Given the description of an element on the screen output the (x, y) to click on. 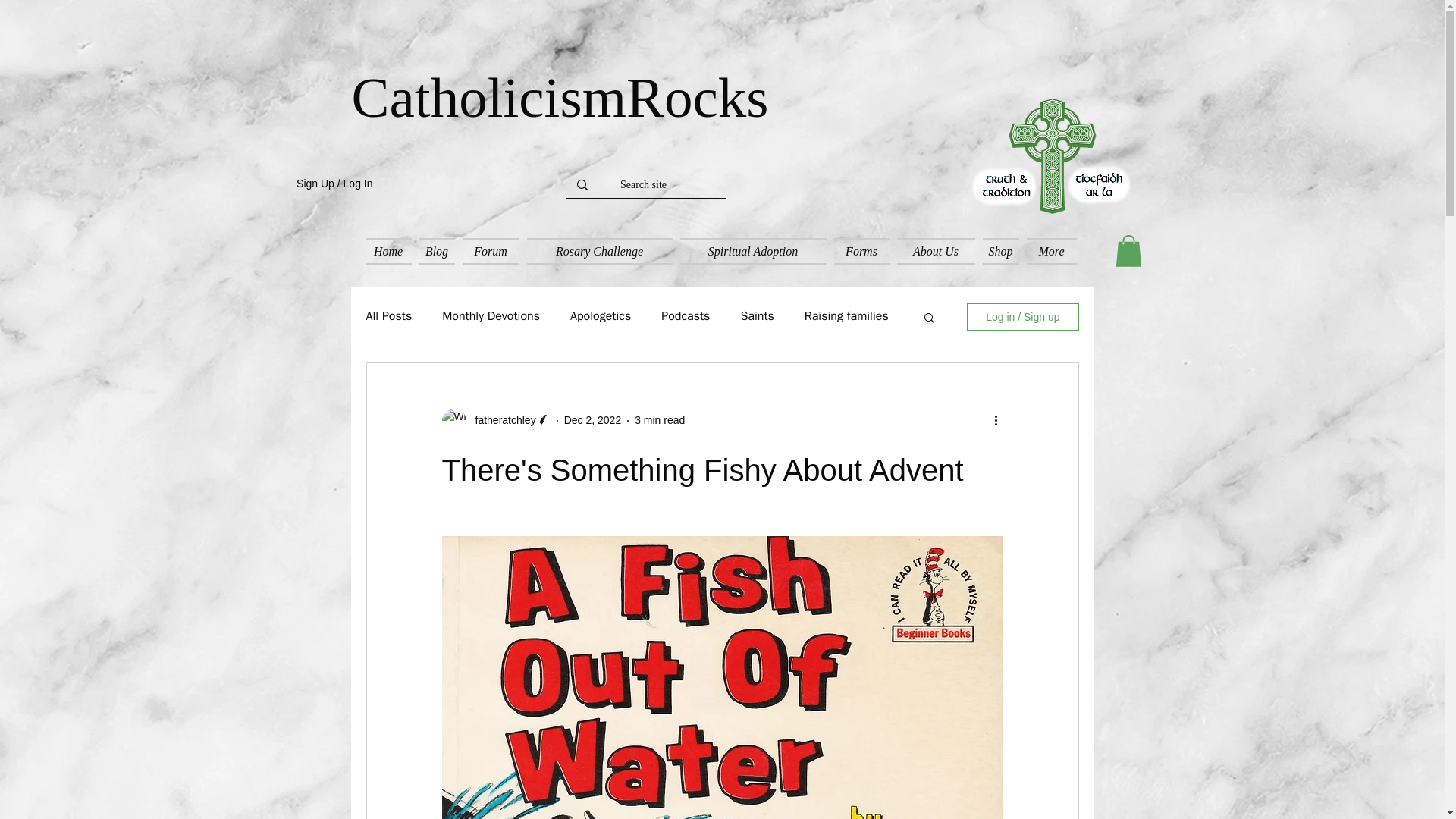
Raising families (846, 316)
Blog (436, 251)
Home (387, 251)
About Us (935, 251)
All Posts (388, 316)
Rosary Challenge (599, 251)
Saints (756, 316)
Dec 2, 2022 (592, 419)
fatheratchley (495, 420)
Spiritual Adoption (753, 251)
3 min read (659, 419)
Forum (490, 251)
fatheratchley (500, 420)
Monthly Devotions (491, 316)
Shop (1000, 251)
